Given the description of an element on the screen output the (x, y) to click on. 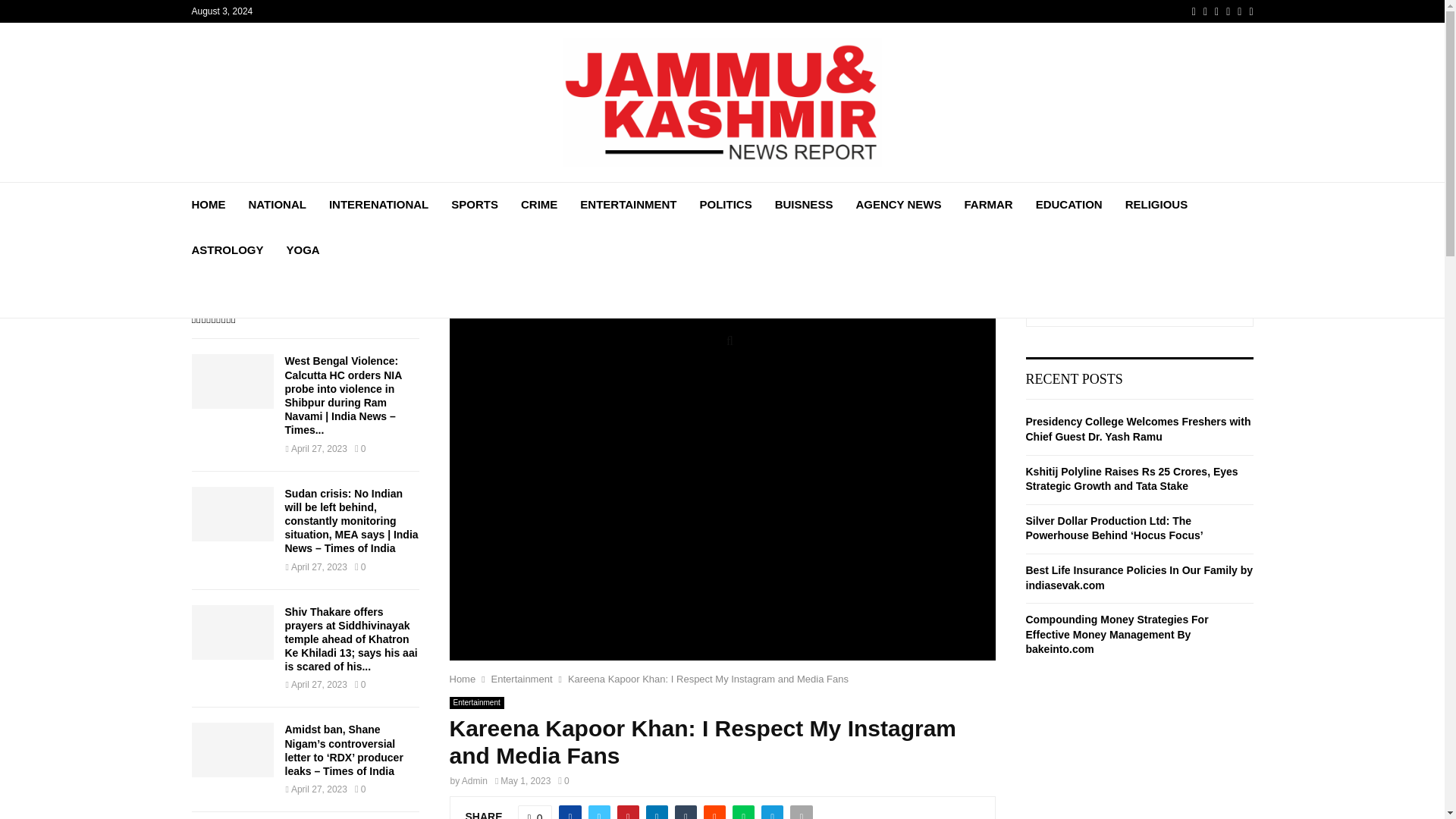
Entertainment (522, 678)
INTERENATIONAL (378, 204)
SPORTS (474, 204)
AGENCY NEWS (898, 204)
EDUCATION (1068, 204)
POLITICS (726, 204)
RELIGIOUS (1156, 204)
Like (535, 812)
NATIONAL (276, 204)
Home (462, 678)
BUISNESS (803, 204)
FARMAR (987, 204)
ASTROLOGY (226, 249)
Kareena Kapoor Khan: I Respect My Instagram and Media Fans (707, 678)
ENTERTAINMENT (628, 204)
